Given the description of an element on the screen output the (x, y) to click on. 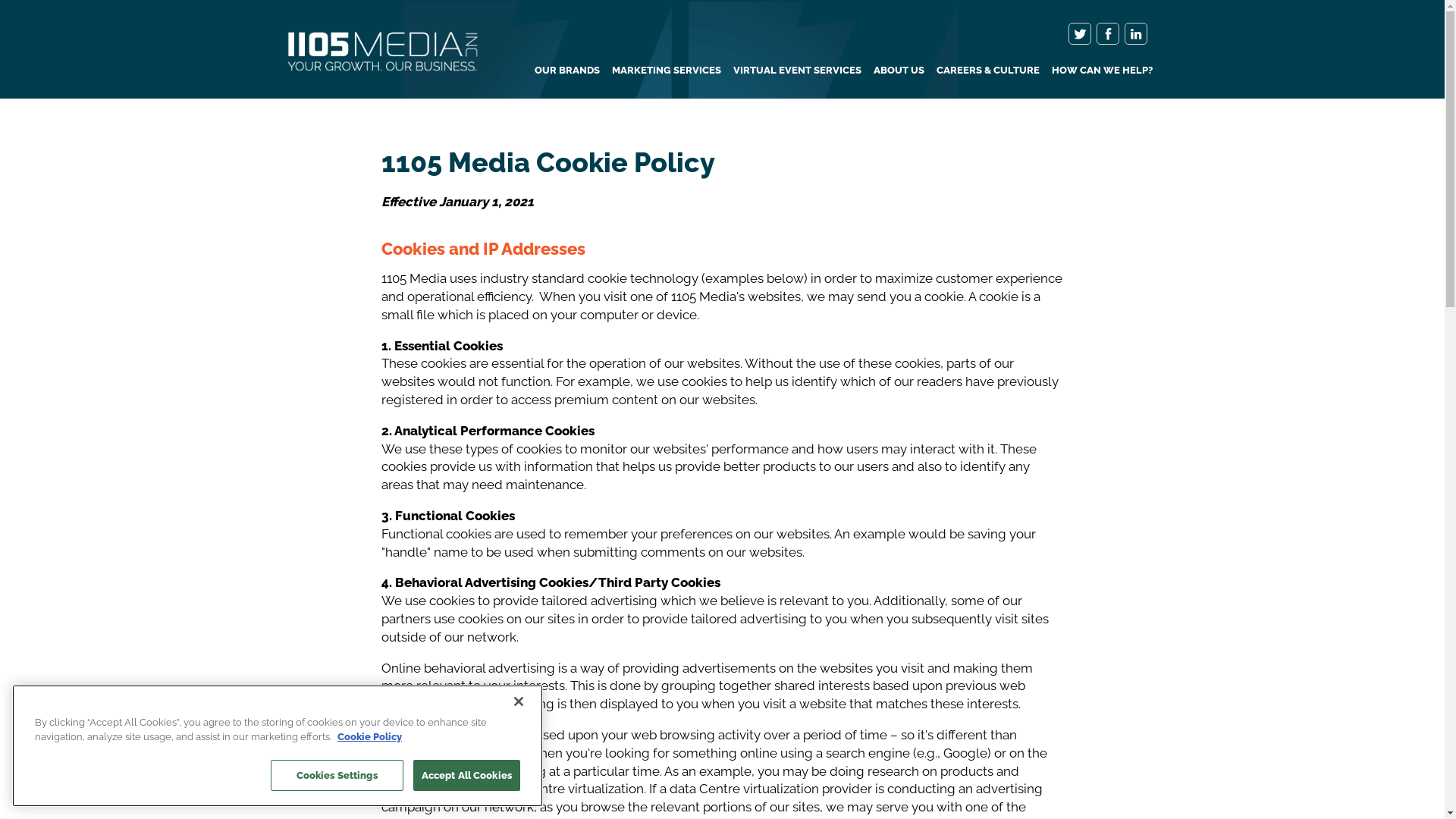
HOW CAN WE HELP? Element type: text (1100, 69)
CAREERS & CULTURE Element type: text (986, 69)
Cookies Settings Element type: text (336, 775)
VIRTUAL EVENT SERVICES Element type: text (796, 69)
Cookie Policy Element type: text (369, 737)
ABOUT US Element type: text (898, 69)
OUR BRANDS Element type: text (566, 69)
MARKETING SERVICES Element type: text (665, 69)
Accept All Cookies Element type: text (466, 775)
